Given the description of an element on the screen output the (x, y) to click on. 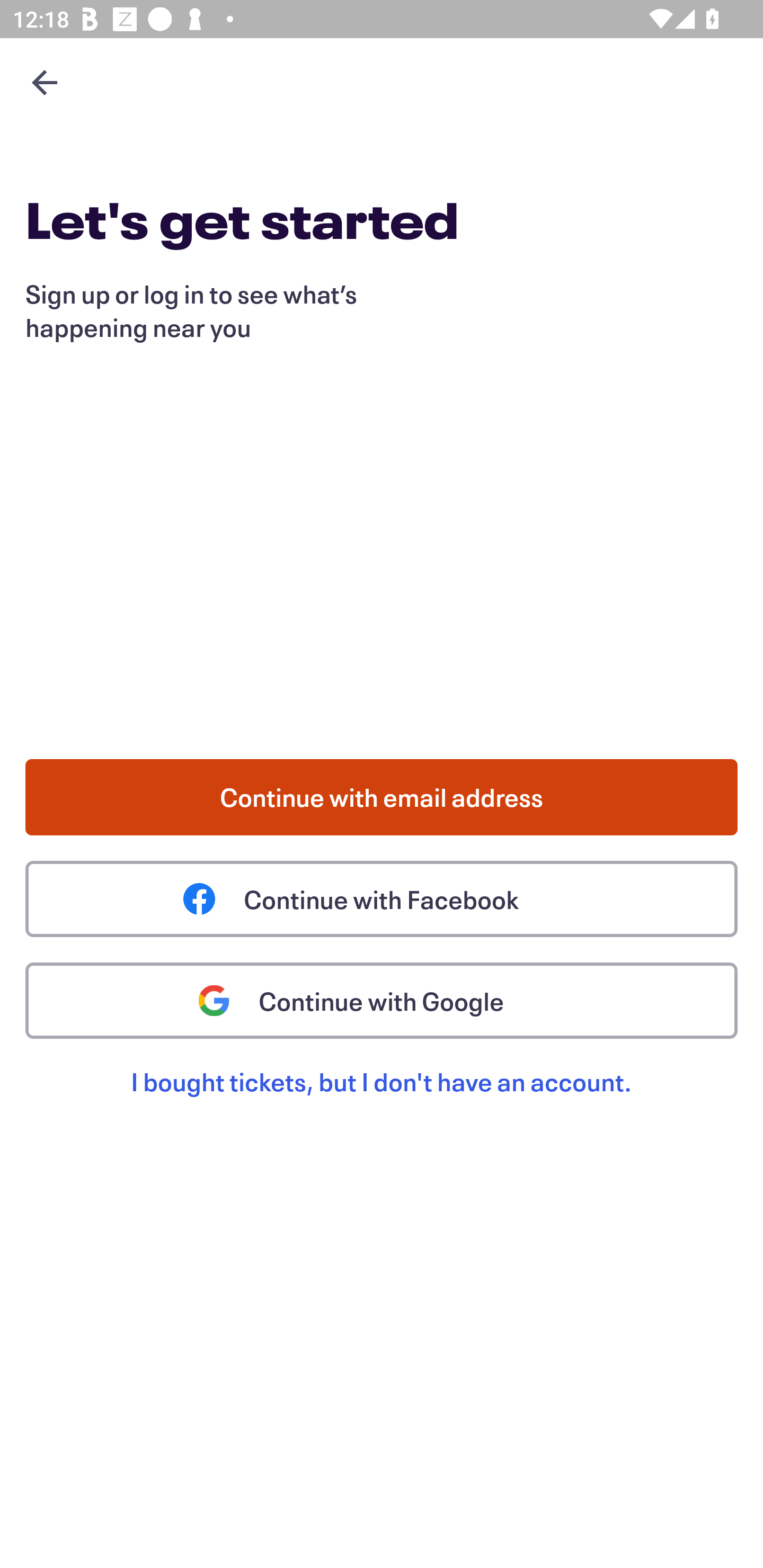
Navigate up (44, 82)
Continue with email address (381, 796)
I bought tickets, but I don't have an account. (381, 1101)
